Given the description of an element on the screen output the (x, y) to click on. 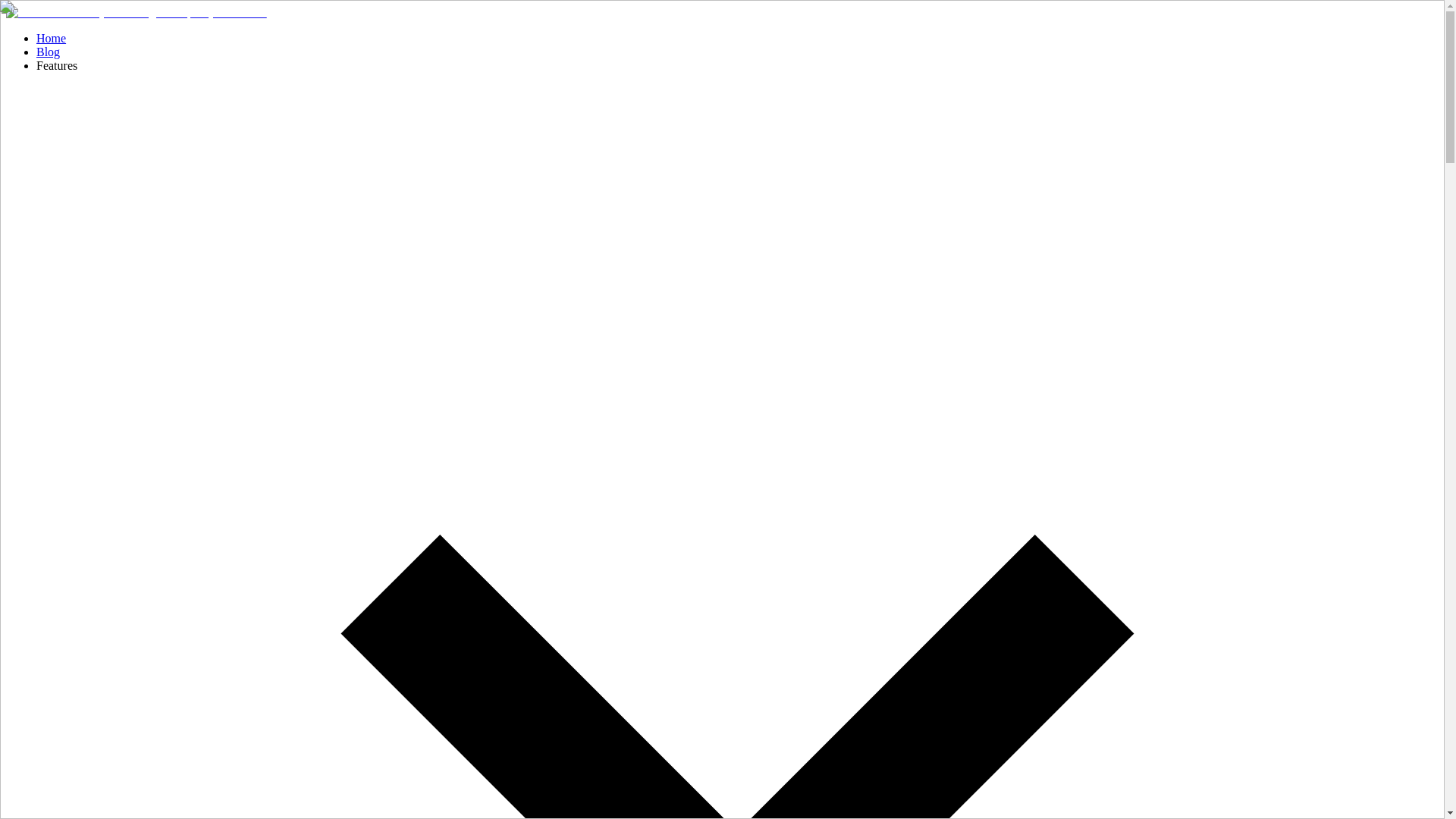
Blog (47, 51)
Home (50, 38)
